Given the description of an element on the screen output the (x, y) to click on. 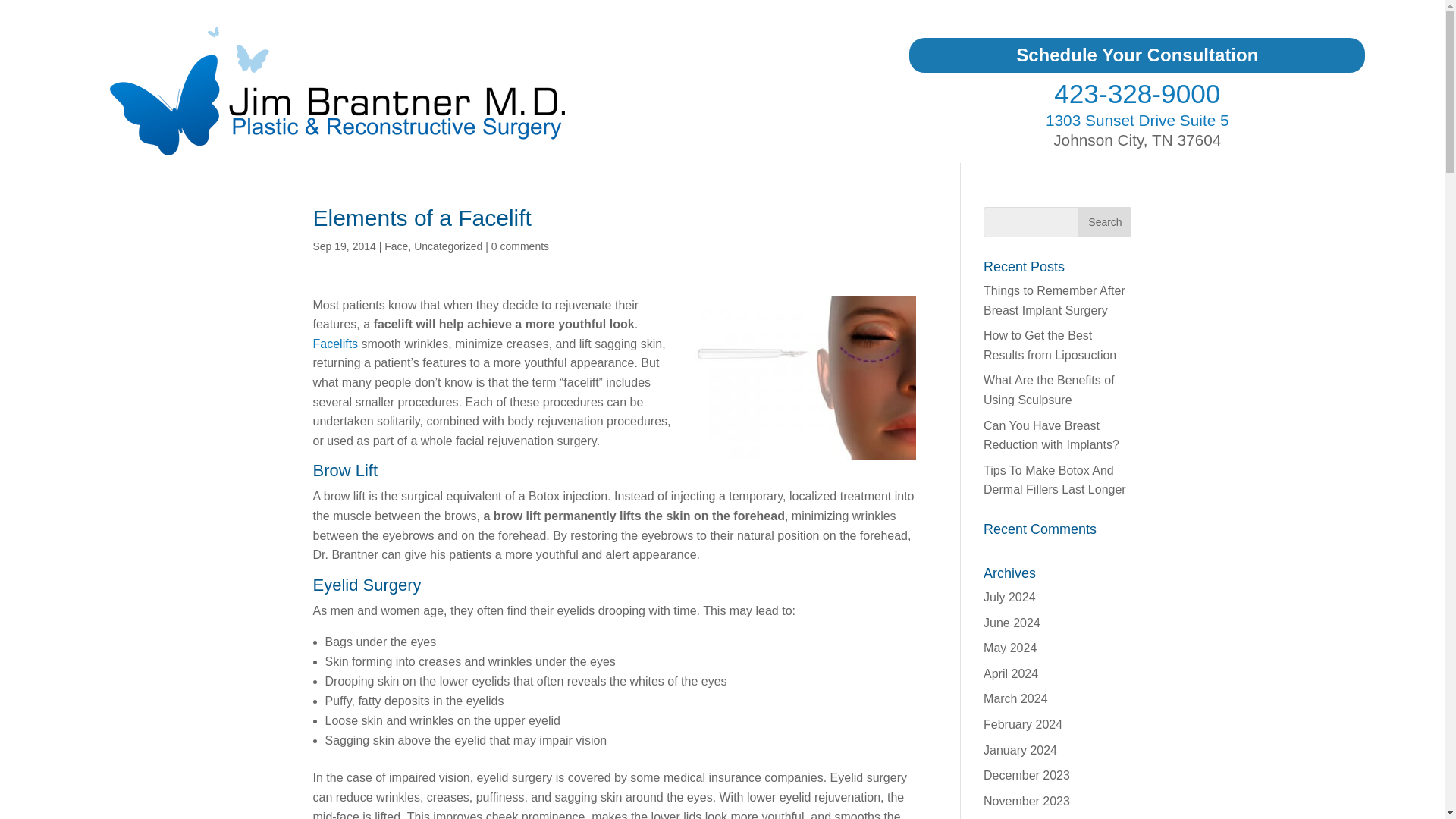
Facelift Surgery - Cosmetic Procedures (335, 343)
Schedule Your Consultation (1136, 55)
1303 Sunset Drive Suite 5 (1136, 119)
Search (1104, 222)
423-328-9000 (1137, 93)
